Given the description of an element on the screen output the (x, y) to click on. 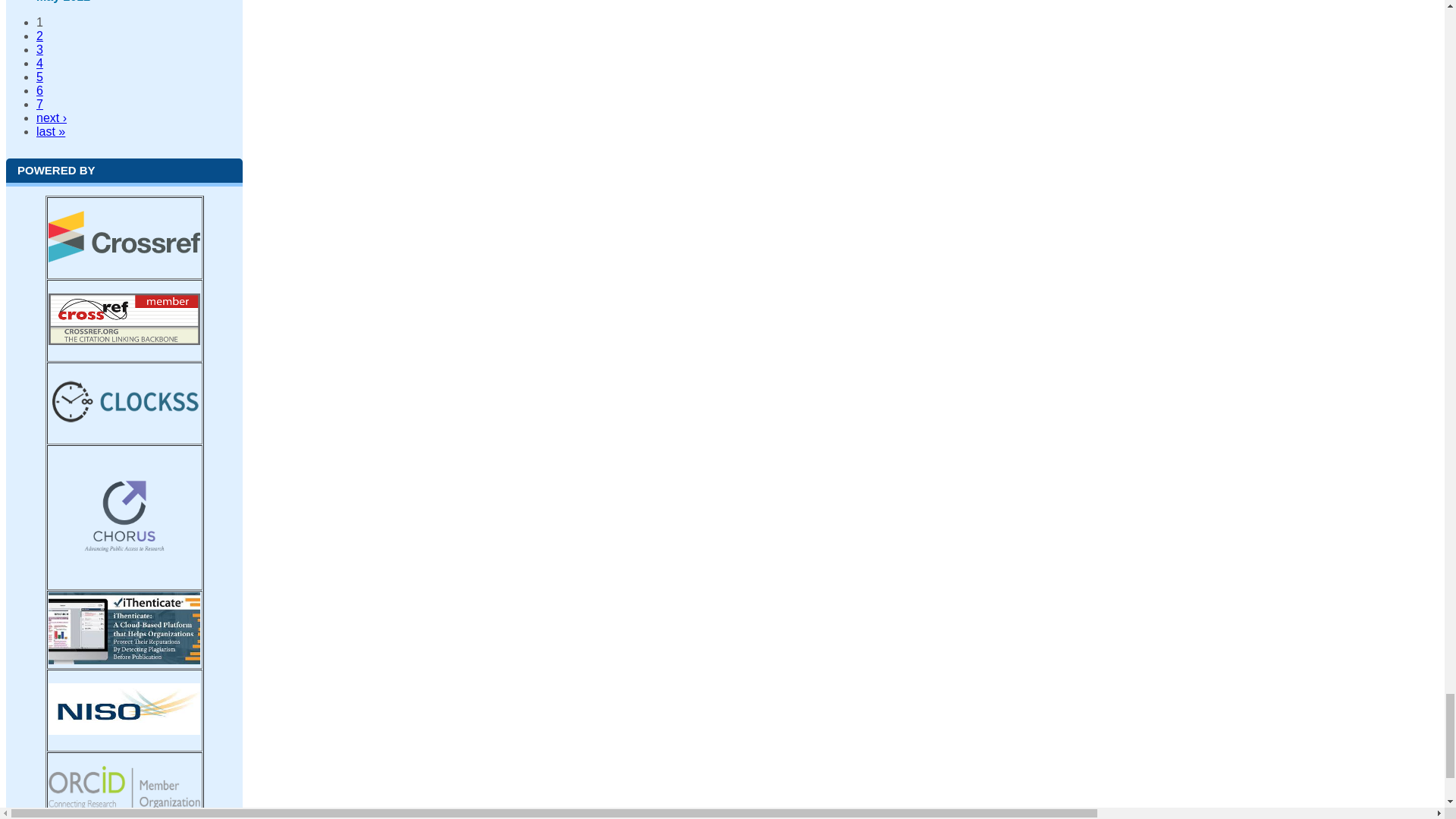
Go to last page (50, 130)
Go to next page (51, 116)
